Given the description of an element on the screen output the (x, y) to click on. 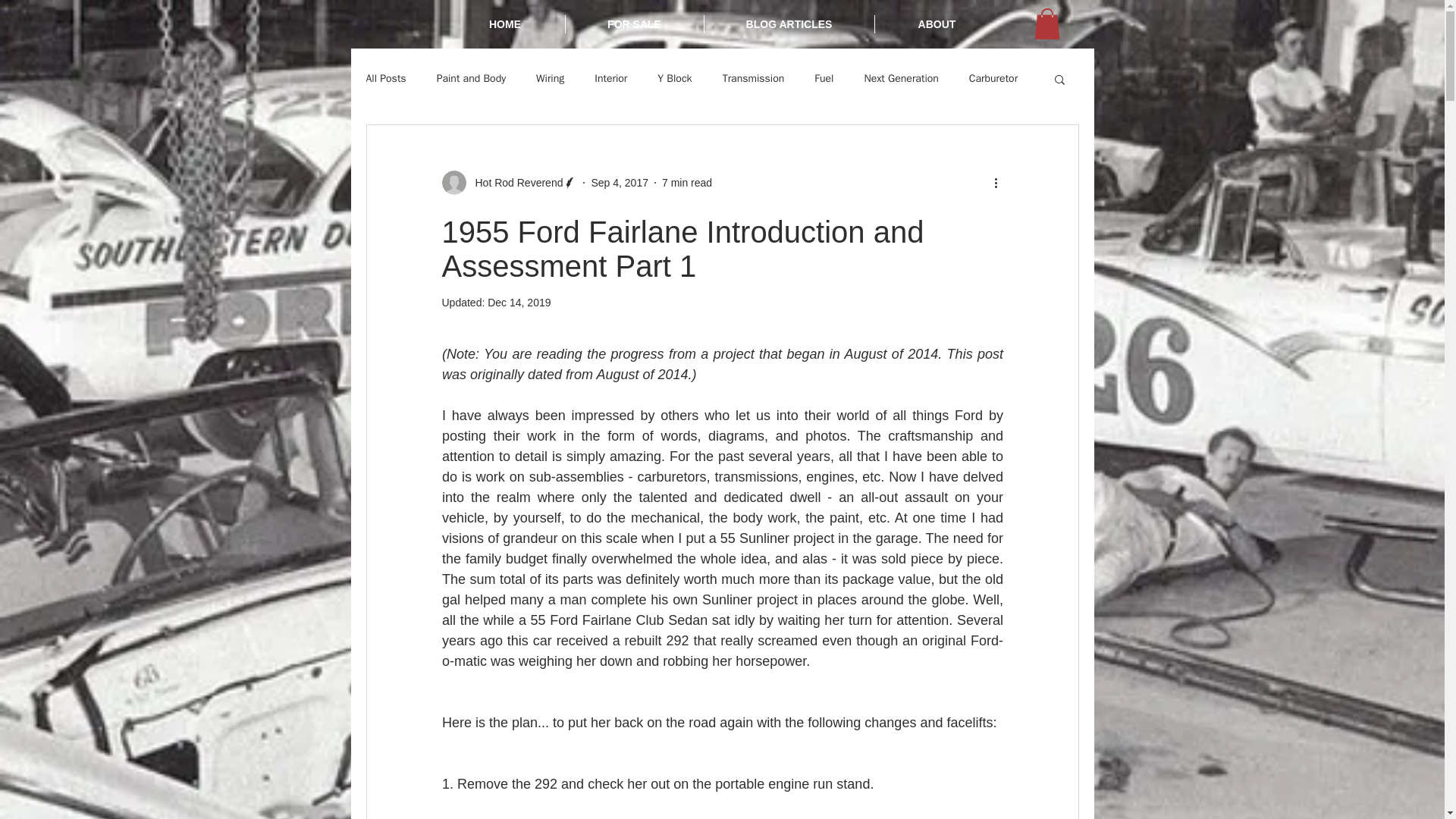
Wiring (549, 78)
Dec 14, 2019 (518, 302)
All Posts (385, 78)
Sep 4, 2017 (619, 182)
Carburetor (993, 78)
FOR SALE (634, 24)
Hot Rod Reverend (513, 182)
Paint and Body (470, 78)
Y Block (674, 78)
Transmission (753, 78)
